Given the description of an element on the screen output the (x, y) to click on. 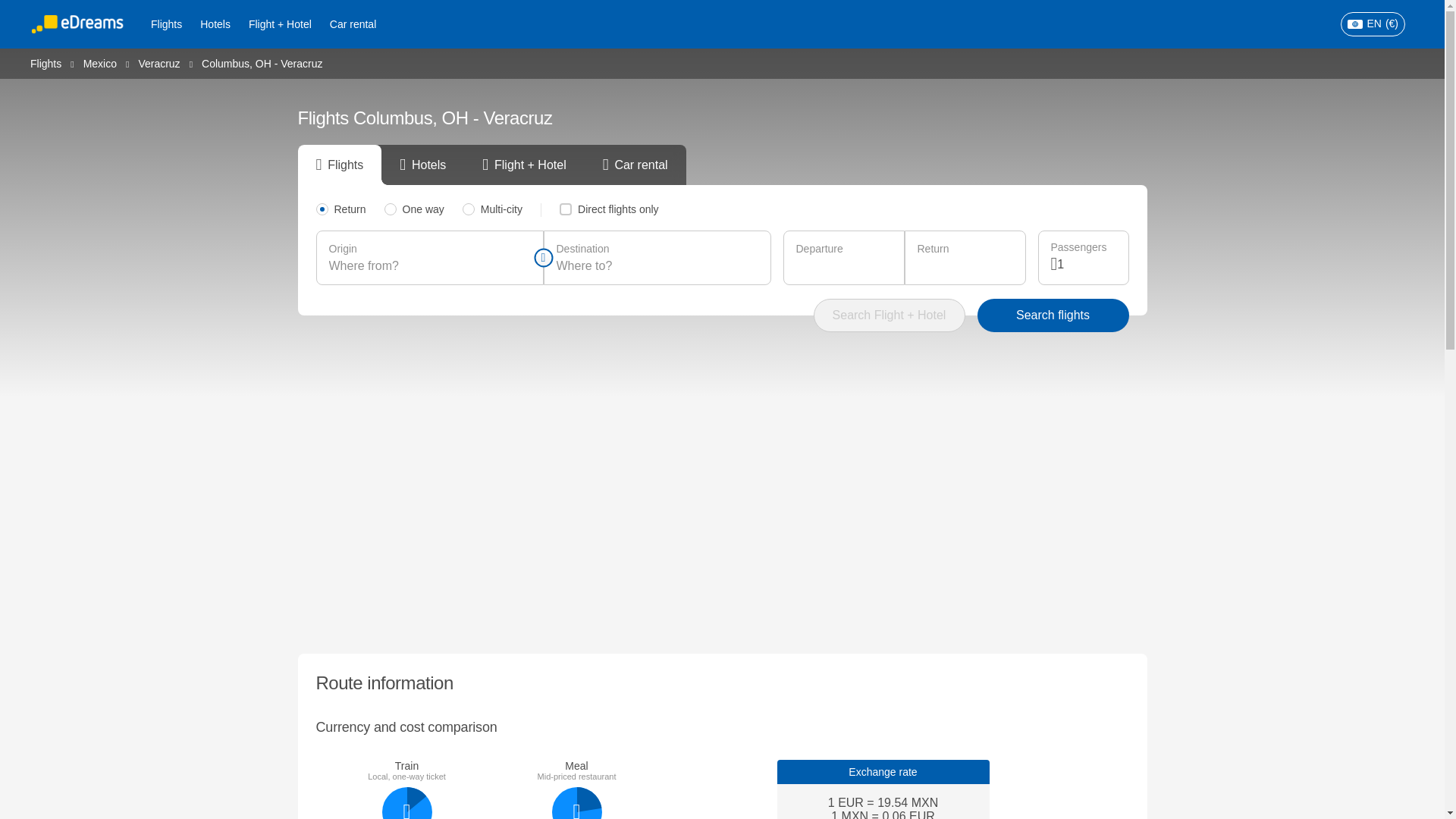
Veracruz (158, 62)
Columbus, OH - Veracruz (262, 63)
Car rental (352, 24)
Search flights (1052, 315)
Flights (165, 24)
Flights (45, 62)
Mexico (99, 62)
Hotels (215, 24)
1 (1086, 263)
